Given the description of an element on the screen output the (x, y) to click on. 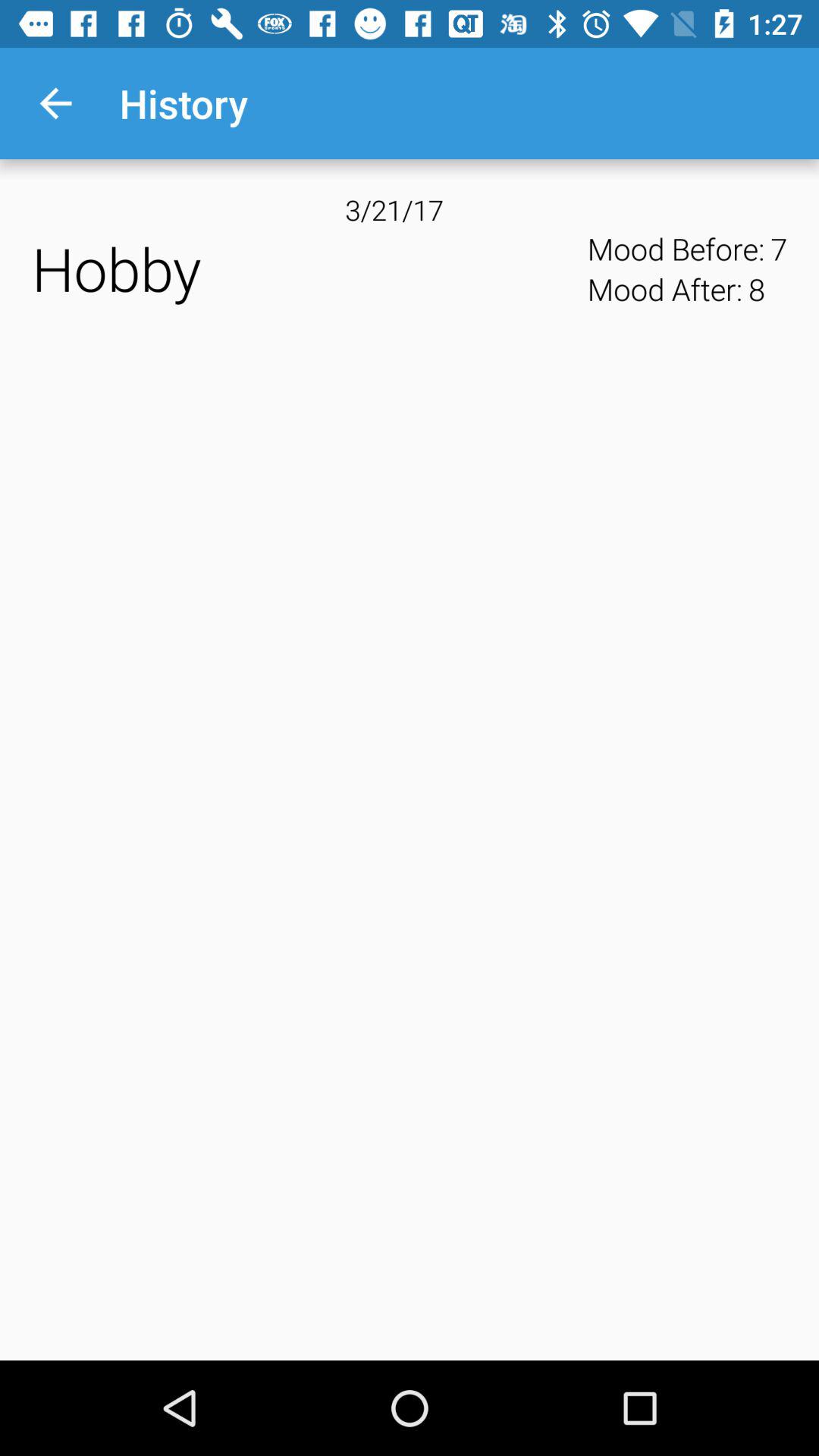
scroll to the 7 item (778, 248)
